Given the description of an element on the screen output the (x, y) to click on. 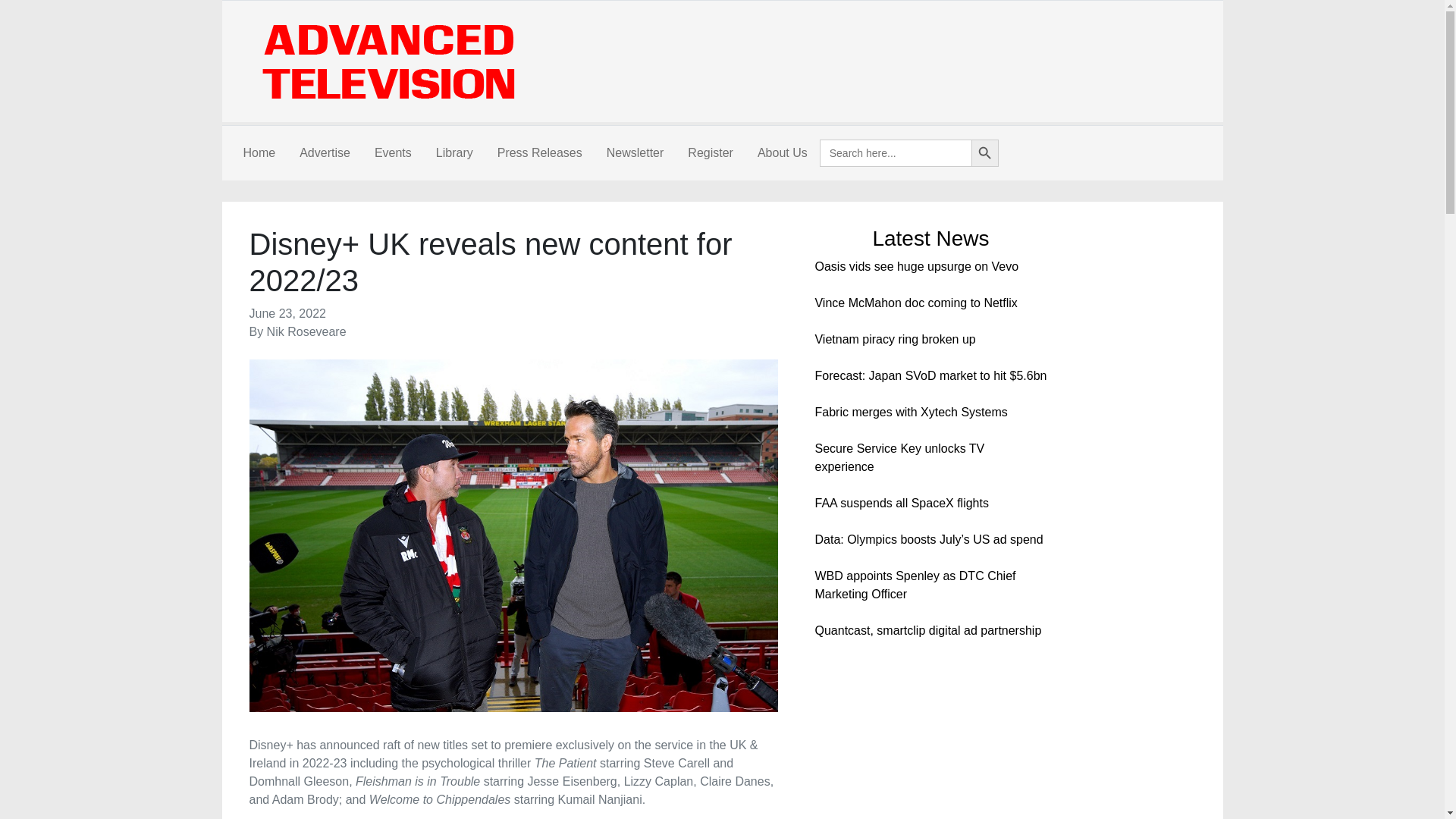
Events (392, 153)
FAA suspends all SpaceX flights (900, 502)
Press Releases (539, 153)
Fabric merges with Xytech Systems (910, 411)
Register (710, 153)
Newsletter (635, 153)
Oasis vids see huge upsurge on Vevo (915, 266)
Secure Service Key unlocks TV experience (898, 457)
Home (258, 153)
Search Button (984, 153)
